Given the description of an element on the screen output the (x, y) to click on. 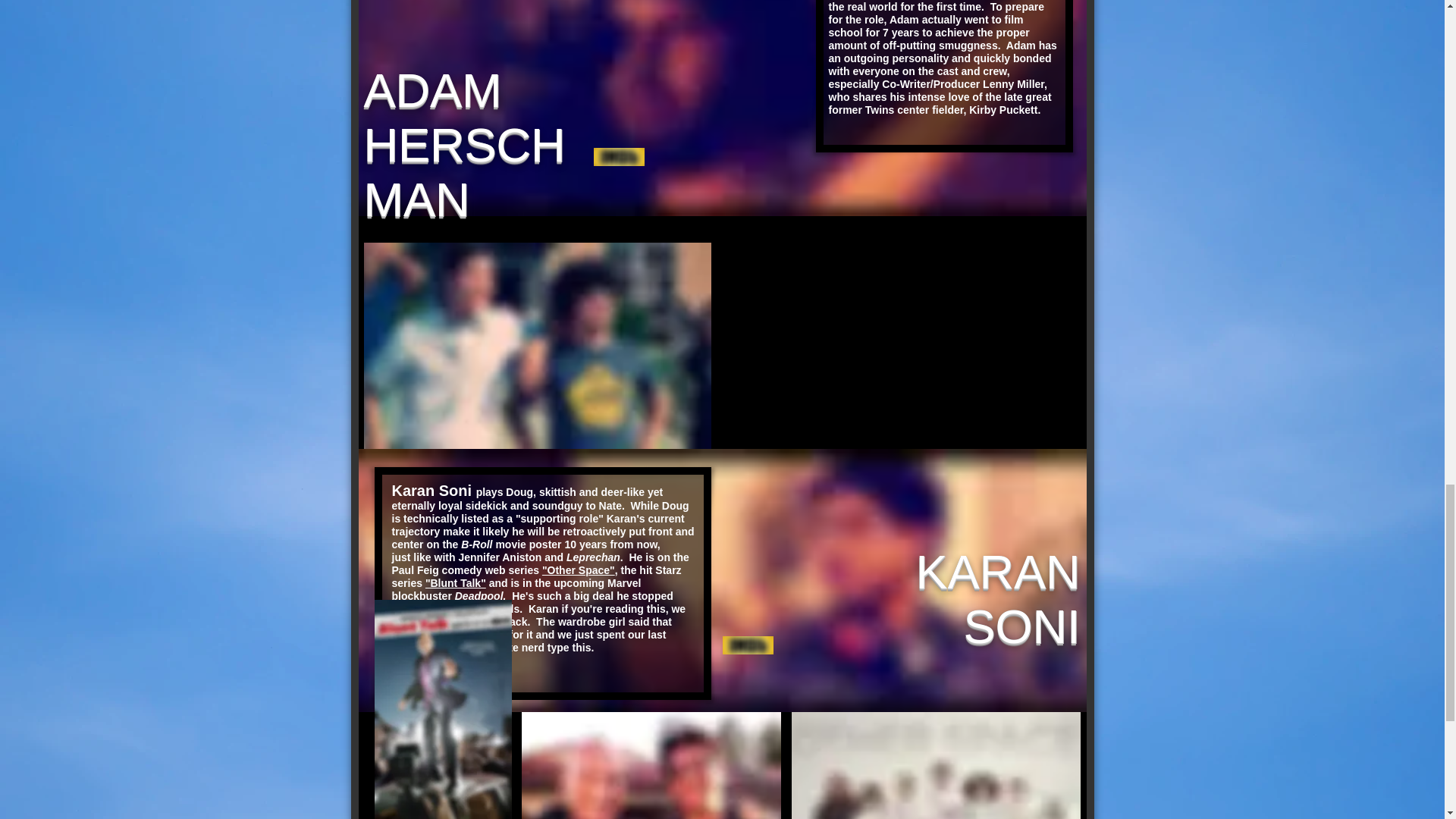
External YouTube (904, 343)
imdb.png (617, 157)
Accepted.jpg (537, 345)
Deadpool (478, 595)
"Blunt Talk" (455, 582)
"Other Space" (577, 570)
